Given the description of an element on the screen output the (x, y) to click on. 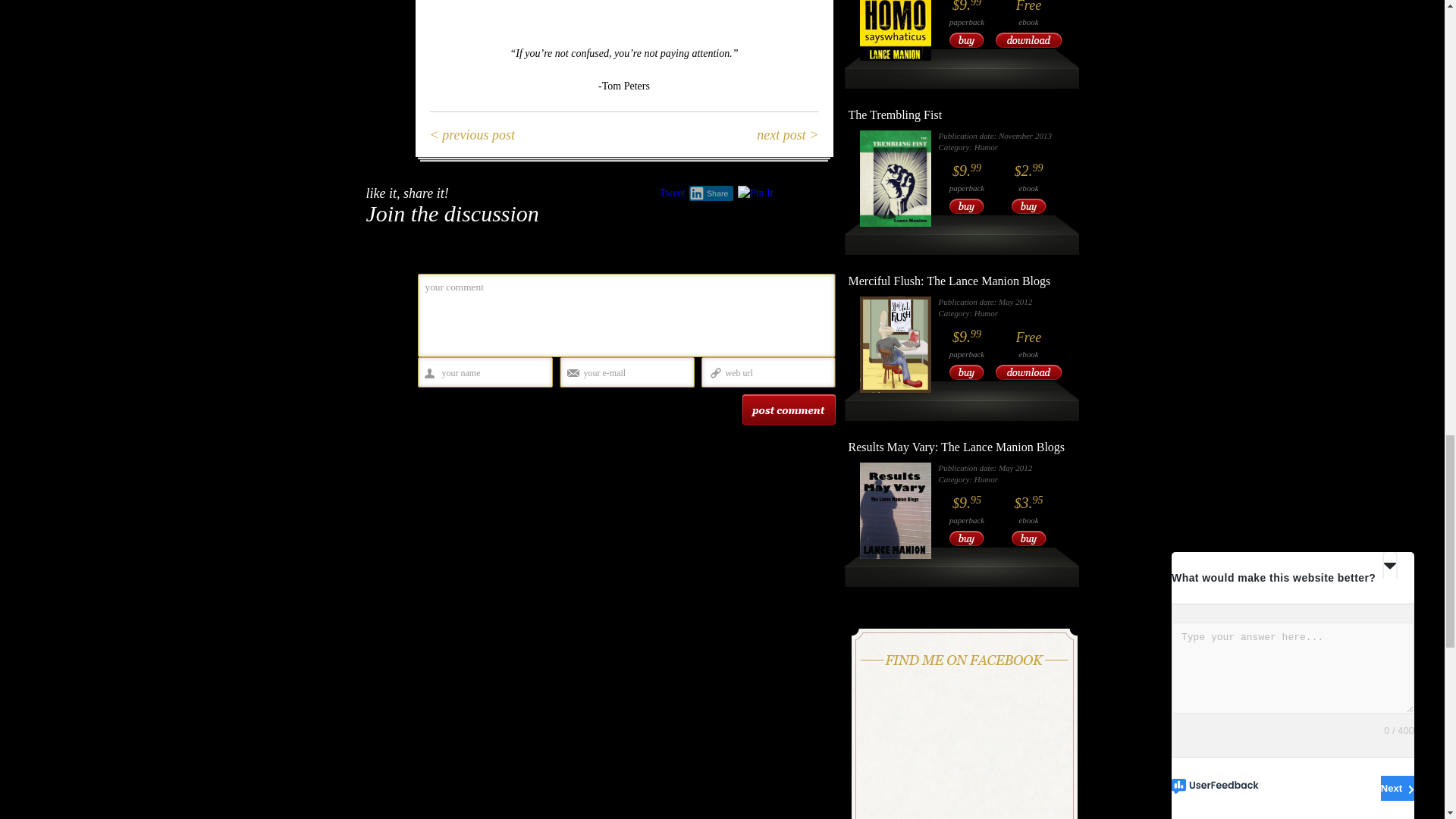
Pin It (755, 192)
your name (490, 373)
Post Comment (787, 409)
web url (774, 373)
your e-mail (633, 373)
